Given the description of an element on the screen output the (x, y) to click on. 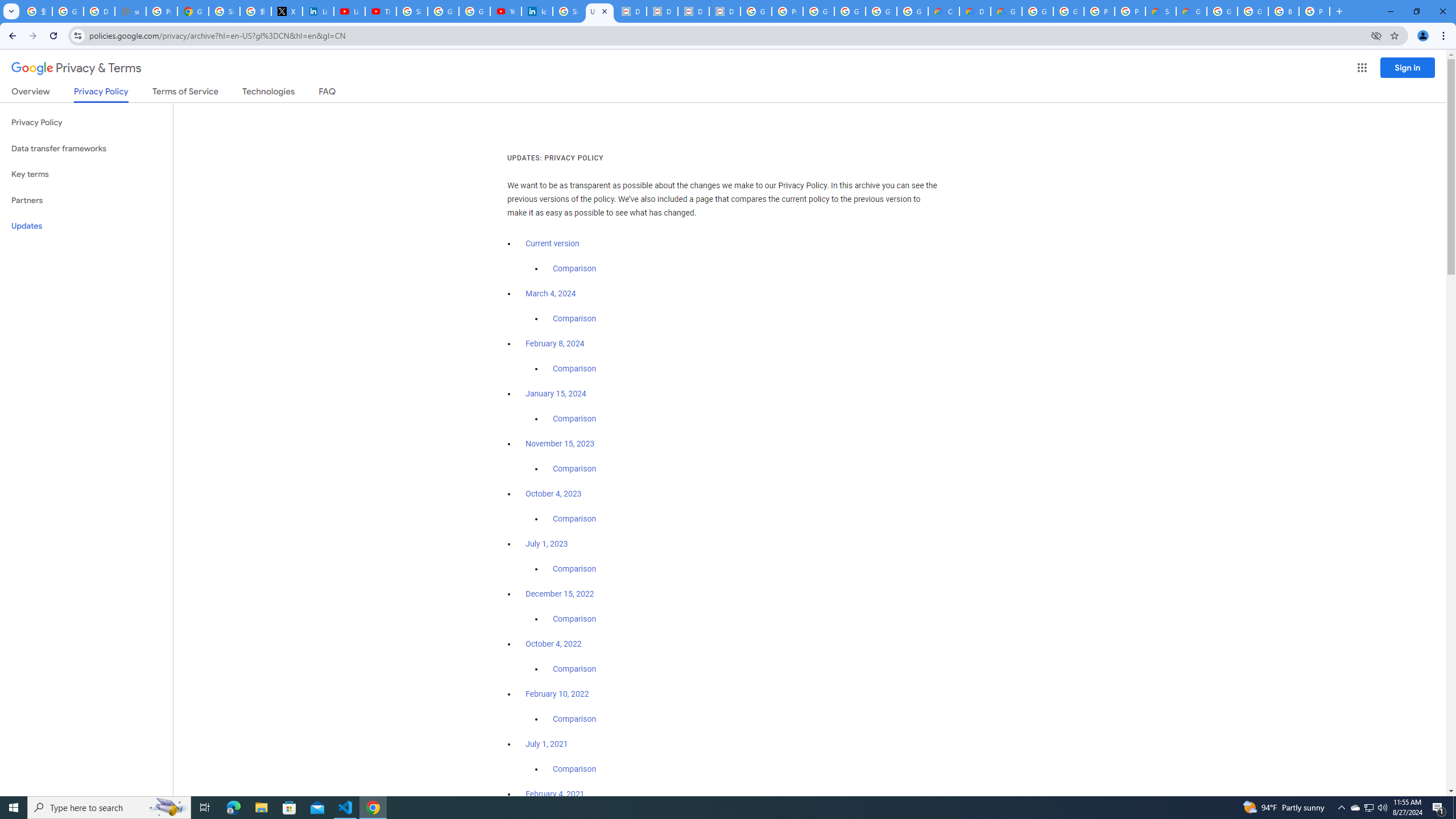
March 4, 2024 (550, 293)
February 4, 2021 (555, 793)
Identity verification via Persona | LinkedIn Help (536, 11)
Technologies (268, 93)
December 15, 2022 (559, 593)
Data Privacy Framework (662, 11)
Partners (86, 199)
Terms of Service (184, 93)
Google Cloud Platform (1252, 11)
